Given the description of an element on the screen output the (x, y) to click on. 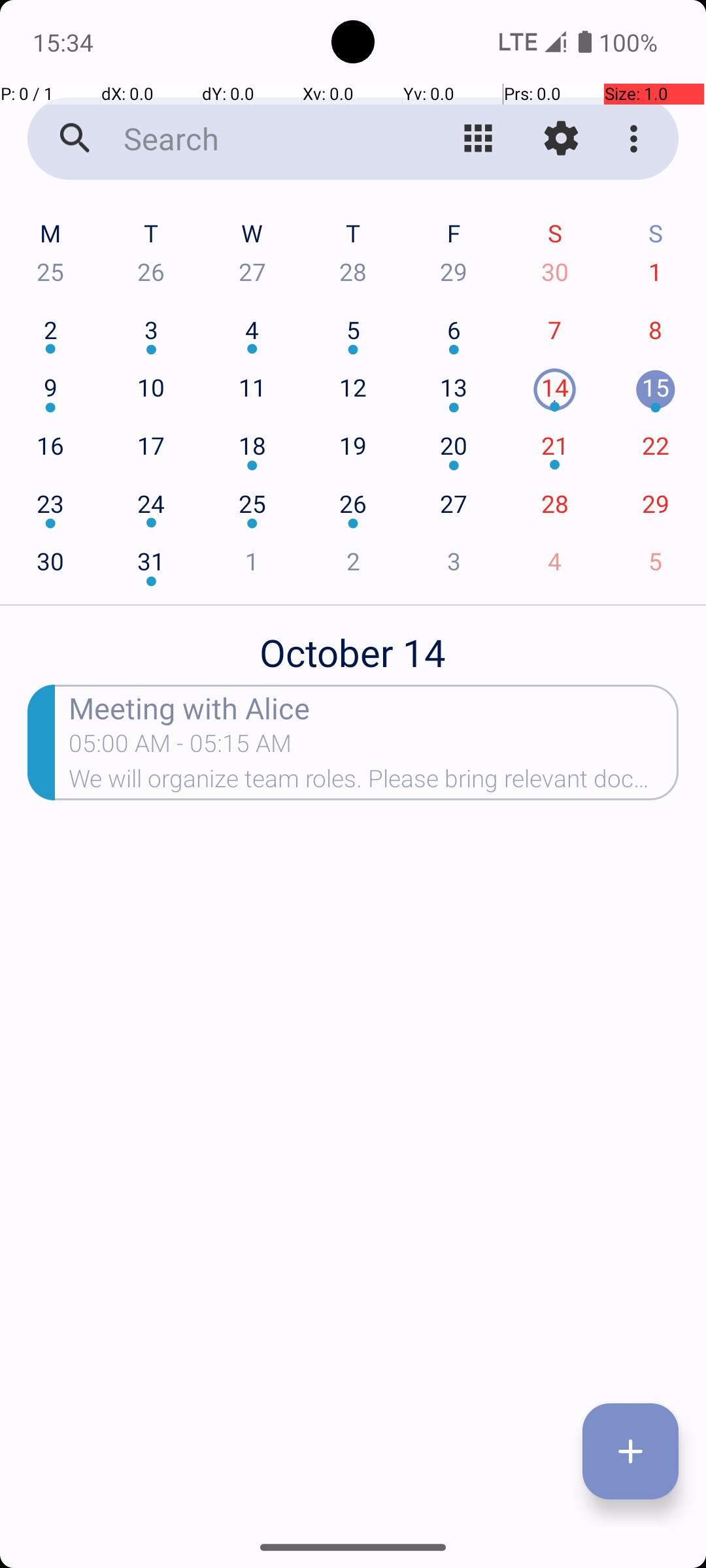
October 14 Element type: android.widget.TextView (352, 644)
Meeting with Alice Element type: android.widget.TextView (373, 706)
05:00 AM - 05:15 AM Element type: android.widget.TextView (179, 747)
We will organize team roles. Please bring relevant documents. Element type: android.widget.TextView (373, 782)
